Given the description of an element on the screen output the (x, y) to click on. 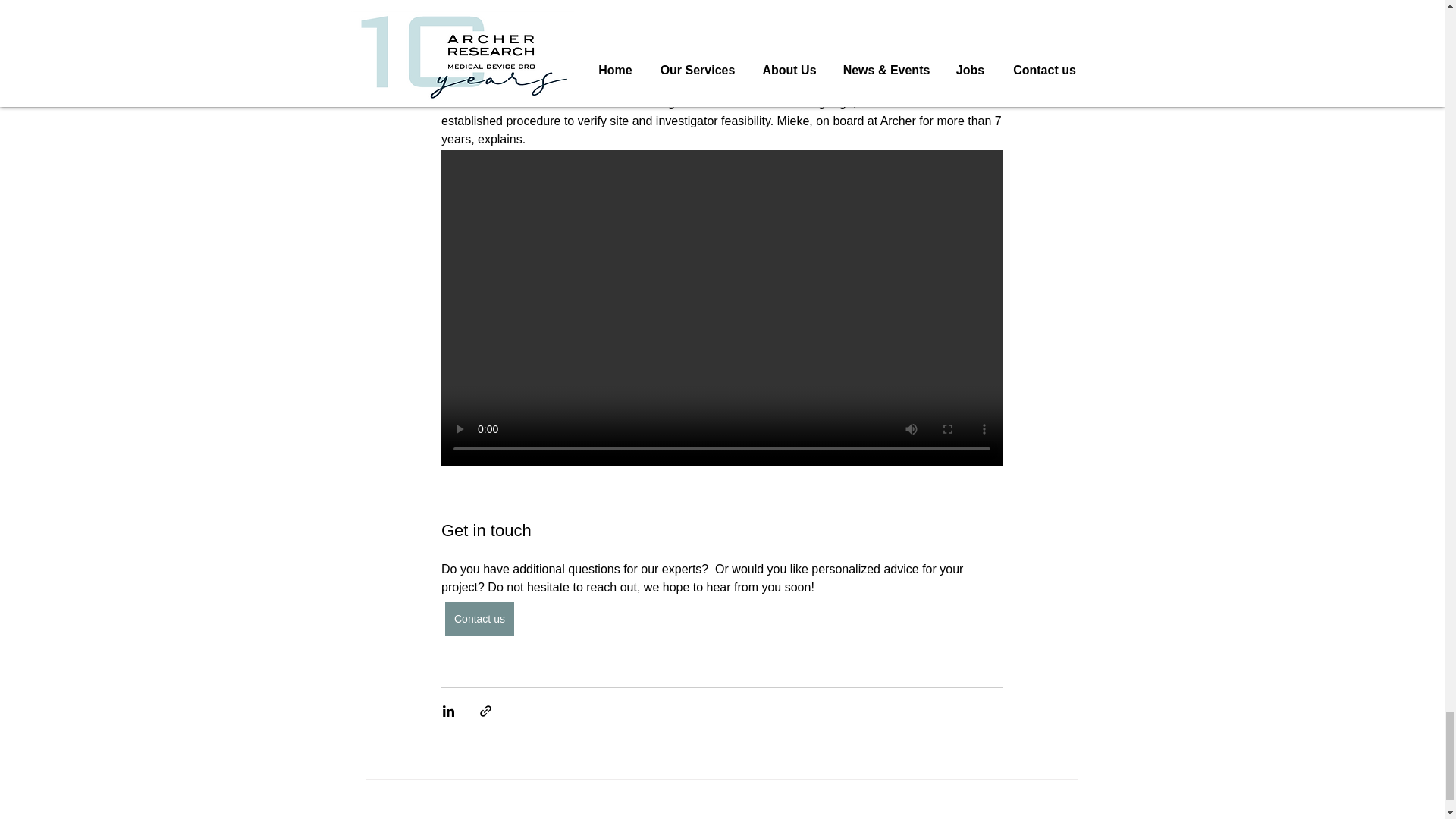
Contact us (478, 618)
Follow Archer Research on LinkedIn (997, 816)
EUCROF (564, 815)
Privacy Policy (662, 815)
Disclaimer (790, 816)
